Given the description of an element on the screen output the (x, y) to click on. 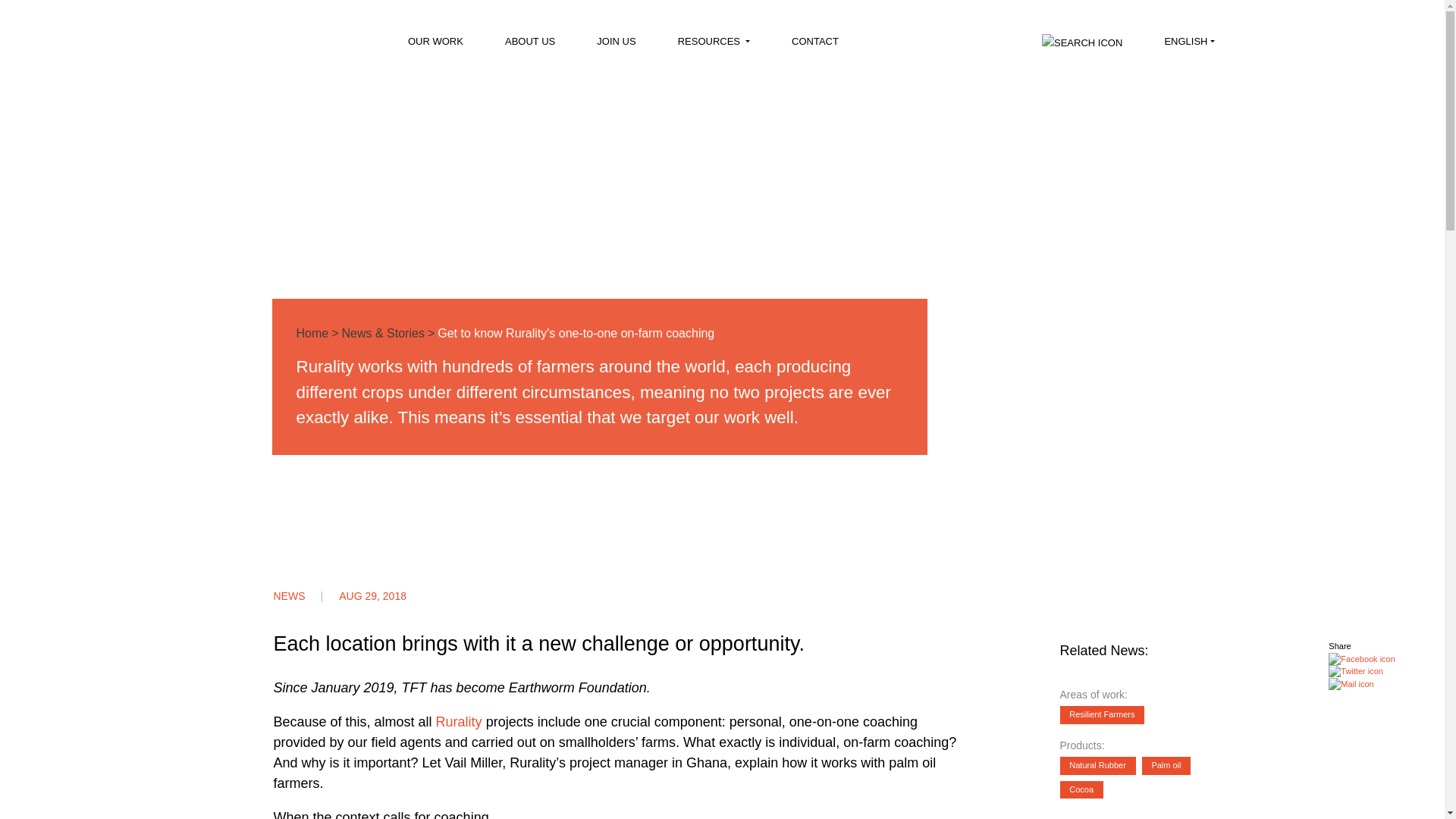
Home (312, 332)
Rurality (460, 721)
Palm oil (1167, 764)
Cocoa (1082, 788)
Share on Facebook (1360, 658)
Resilient Farmers (1103, 713)
Share on X (1360, 671)
Natural Rubber (1097, 765)
CONTACT (812, 45)
Share via E-mail (1360, 684)
